Given the description of an element on the screen output the (x, y) to click on. 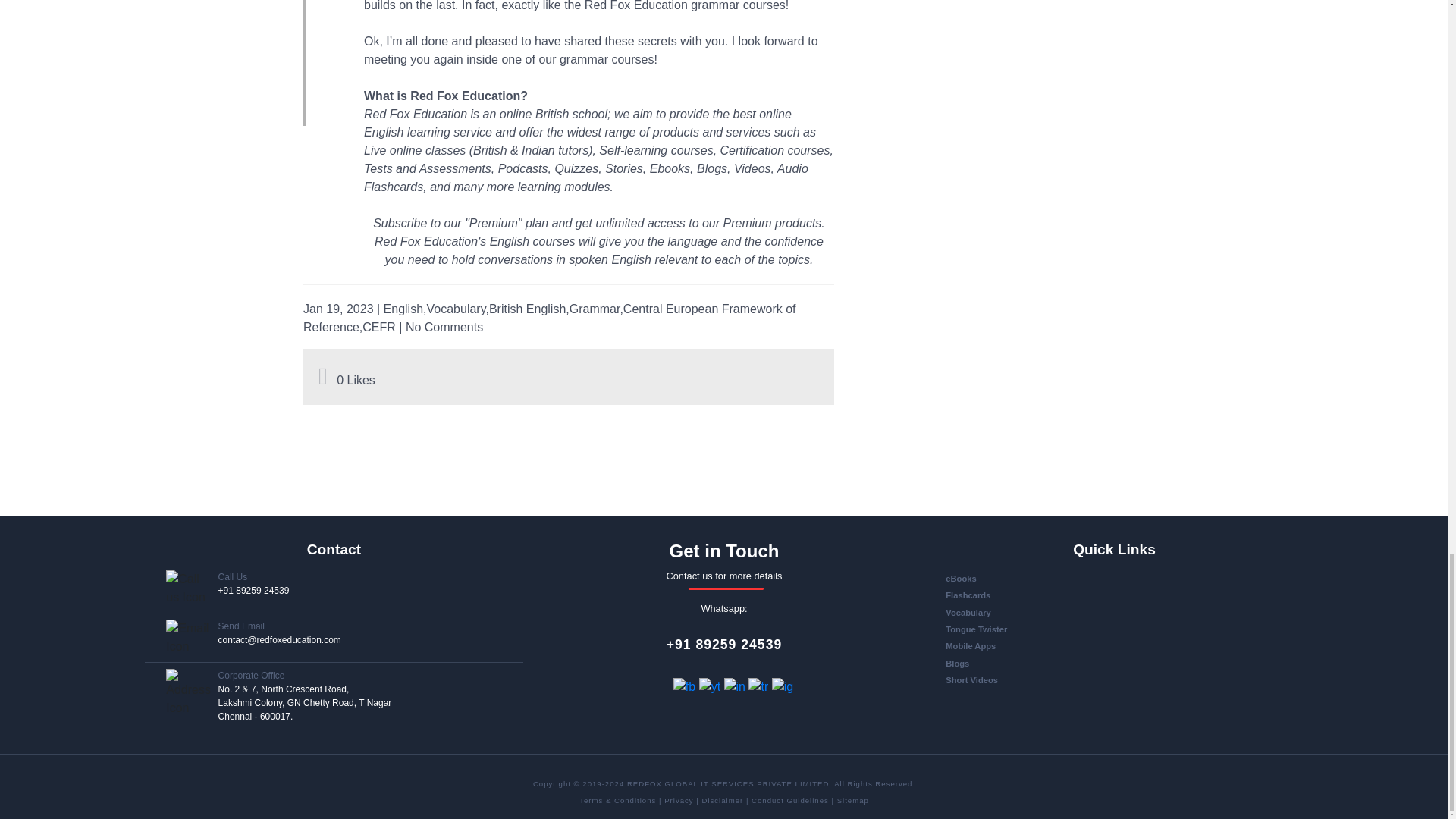
Twitter (759, 685)
Please Login to Continue (324, 379)
Instagram (782, 685)
Youtube (710, 685)
LinkedIn (736, 685)
Facebook (685, 685)
